Given the description of an element on the screen output the (x, y) to click on. 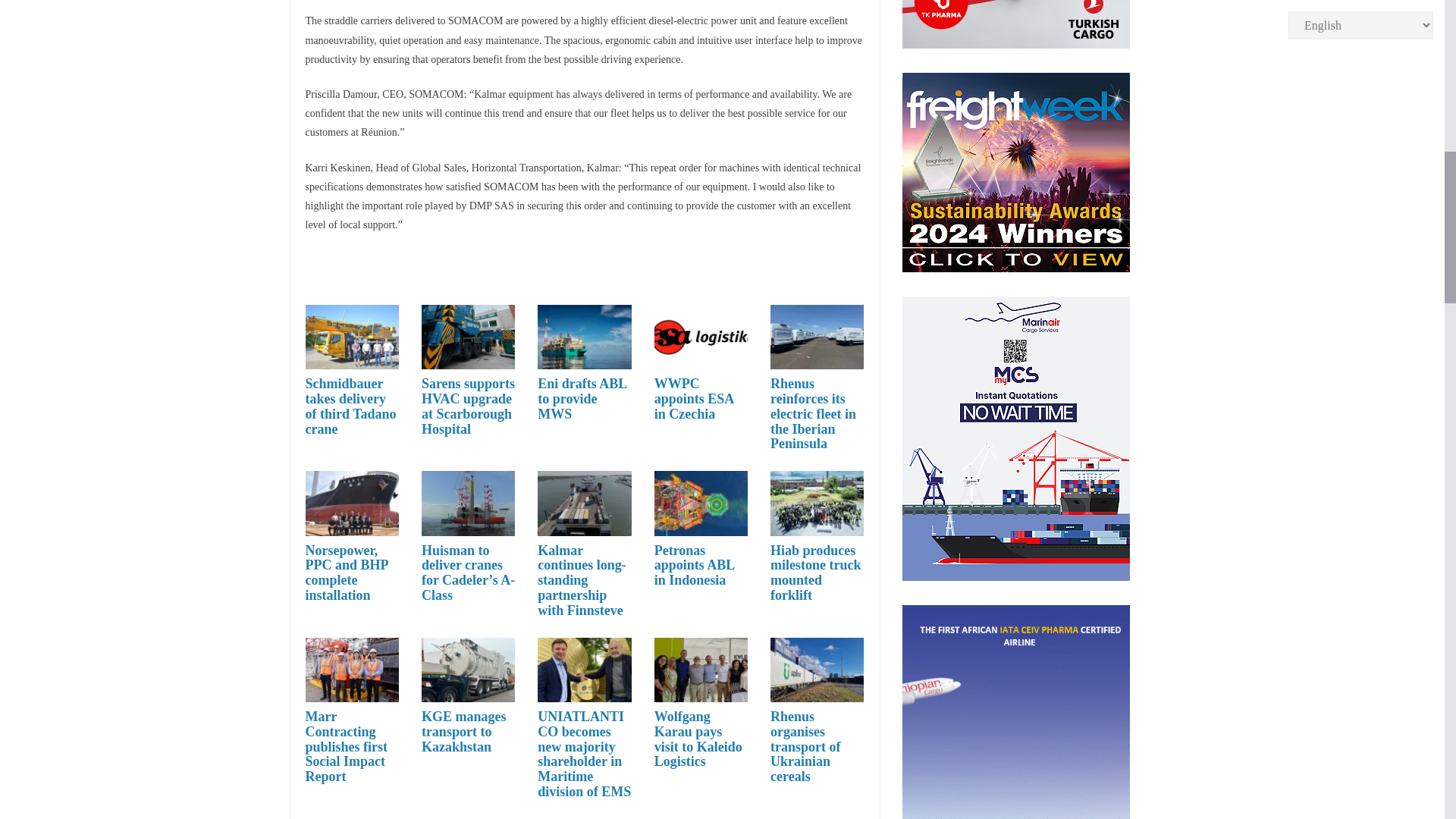
Freightweek Sustainability Awards 2024 (1015, 171)
Schmidbauer takes delivery of third Tadano crane (350, 405)
Turkish Cargo (1015, 24)
